Given the description of an element on the screen output the (x, y) to click on. 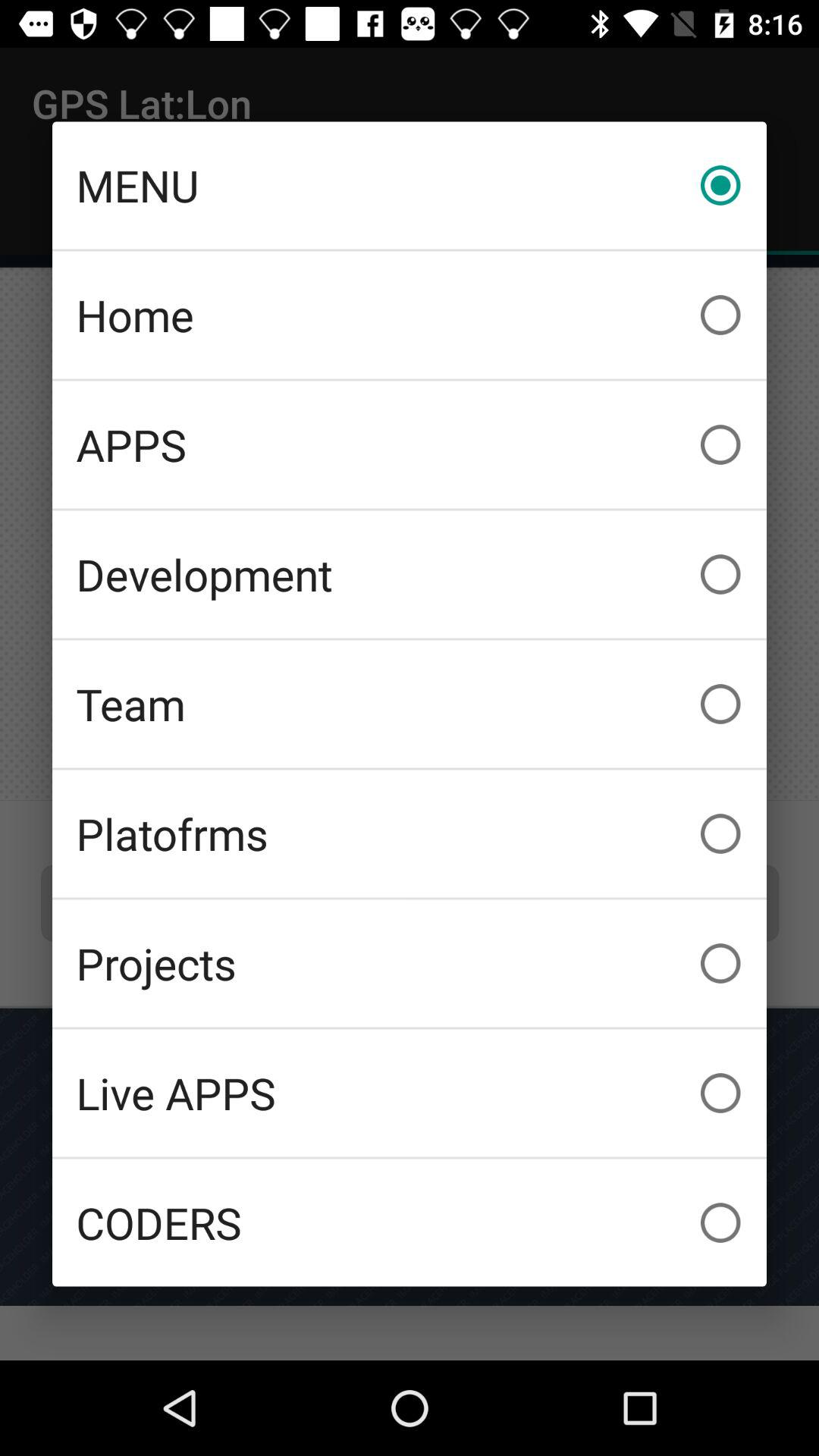
launch team item (409, 703)
